Given the description of an element on the screen output the (x, y) to click on. 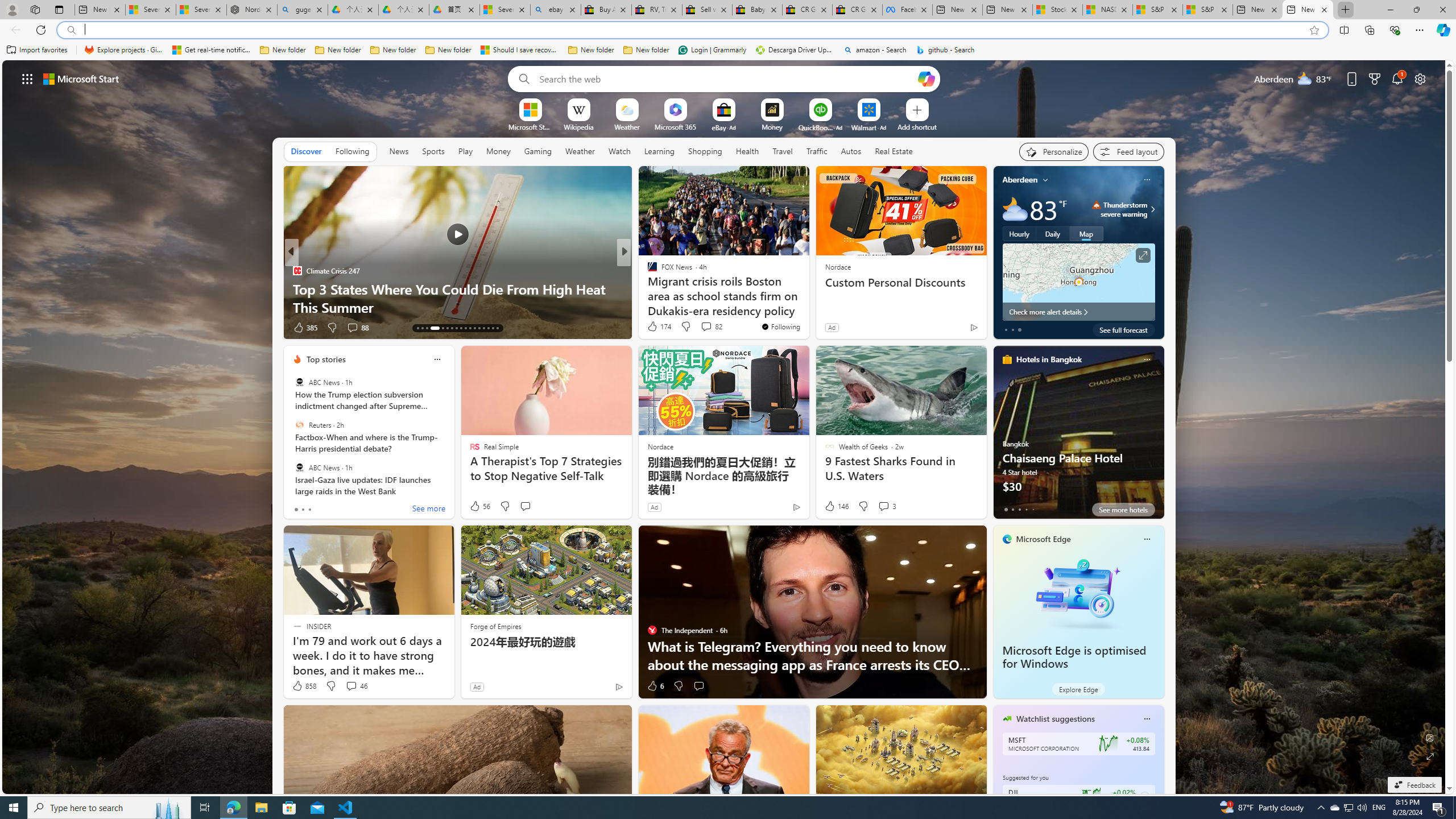
661 Like (654, 327)
Feed settings (1128, 151)
Real Estate (893, 151)
tab-4 (1032, 509)
AutomationID: tab-25 (478, 328)
GQ (647, 288)
View comments 1 Comment (698, 327)
Learning (658, 151)
View comments 46 Comment (350, 685)
View comments 4 Comment (703, 327)
News (398, 151)
Should I save recovered Word documents? - Microsoft Support (519, 49)
Add a site (916, 126)
PsychLove (647, 270)
